Given the description of an element on the screen output the (x, y) to click on. 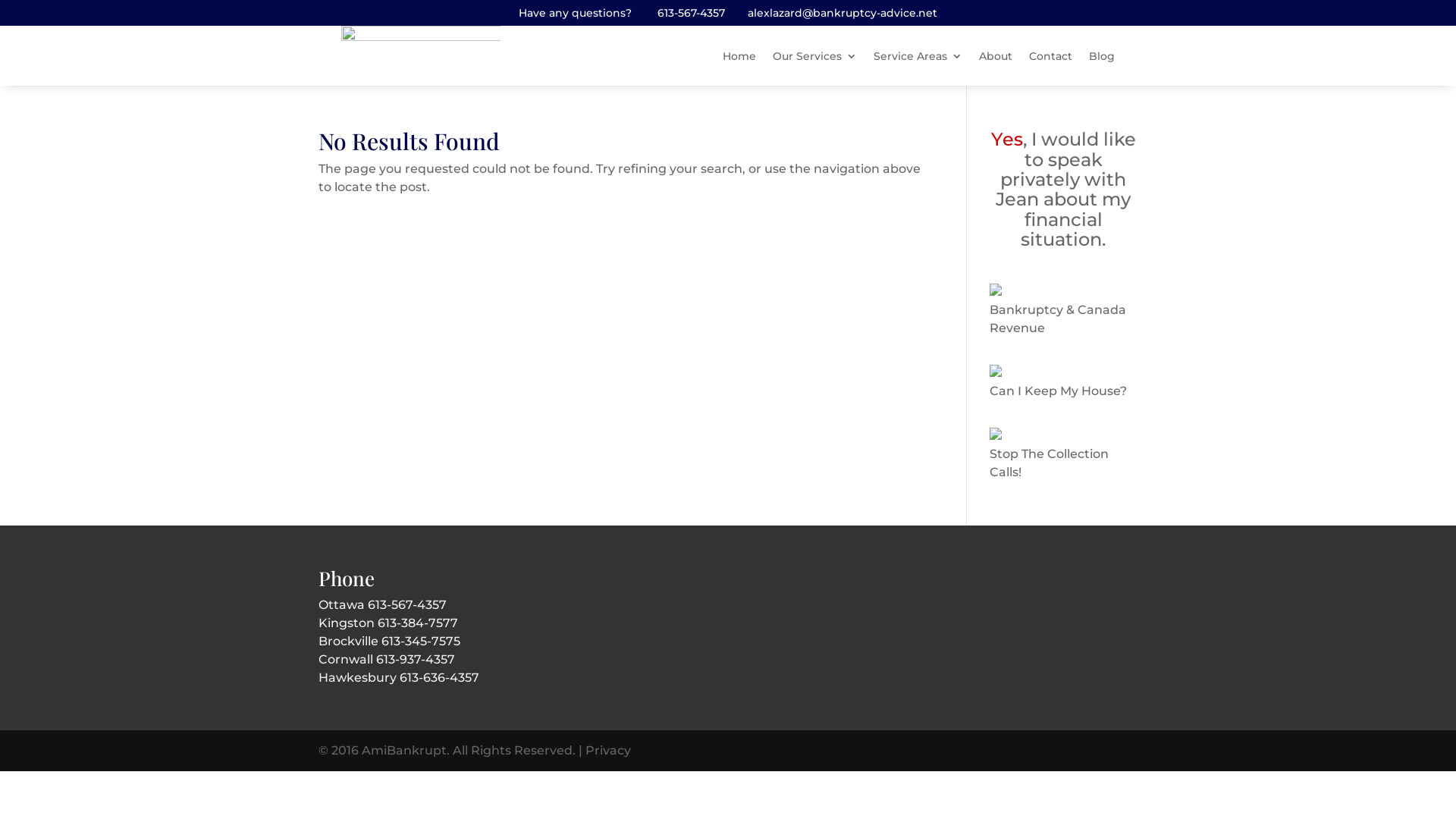
Blog Element type: text (1101, 55)
About Element type: text (995, 55)
alexlazard@bankruptcy-advice.net Element type: text (842, 12)
Contact Element type: text (1050, 55)
Home Element type: text (739, 55)
Our Services Element type: text (814, 55)
Service Areas Element type: text (917, 55)
613-567-4357 Element type: text (690, 12)
